Given the description of an element on the screen output the (x, y) to click on. 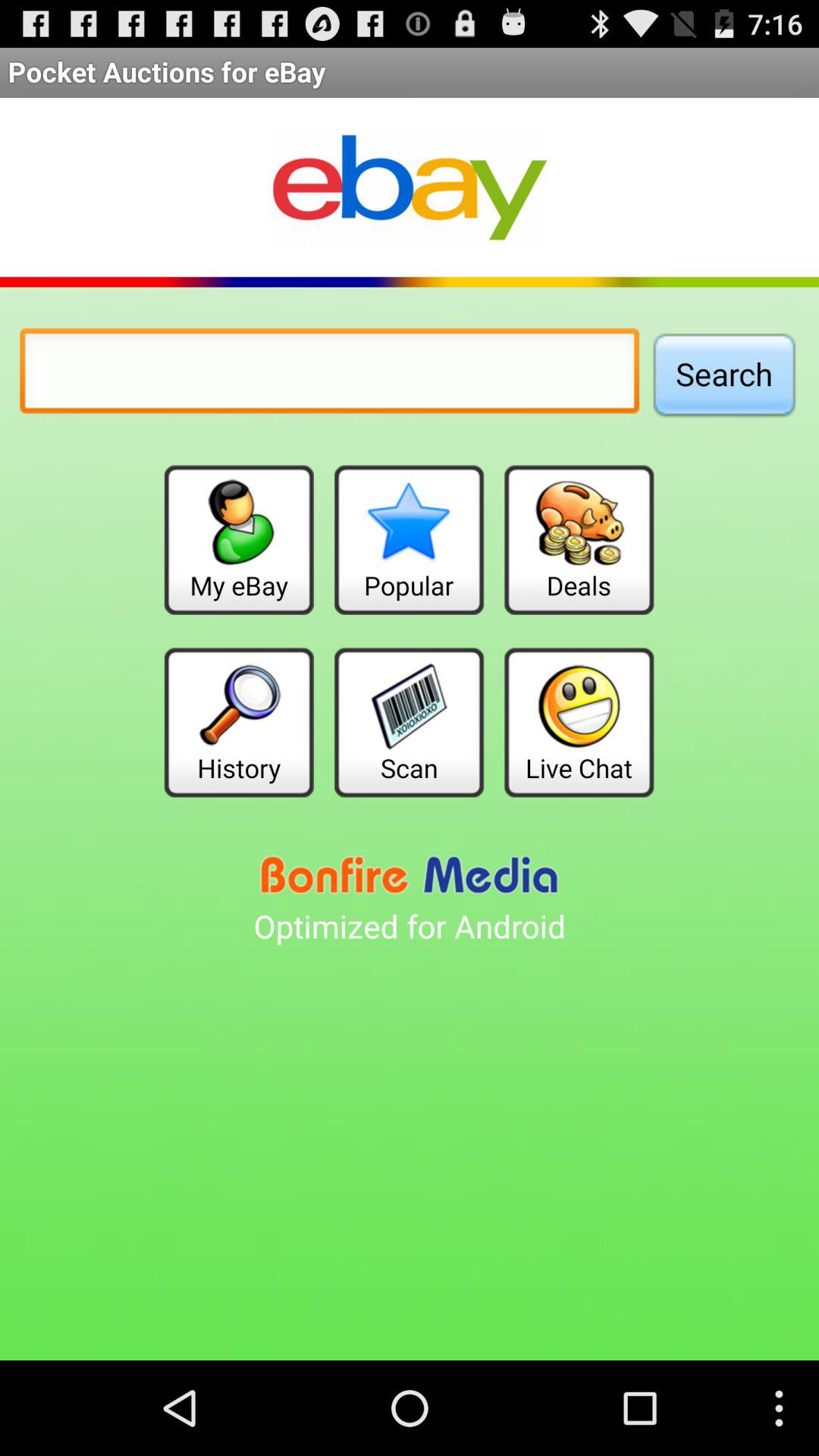
turn off my ebay item (238, 539)
